Given the description of an element on the screen output the (x, y) to click on. 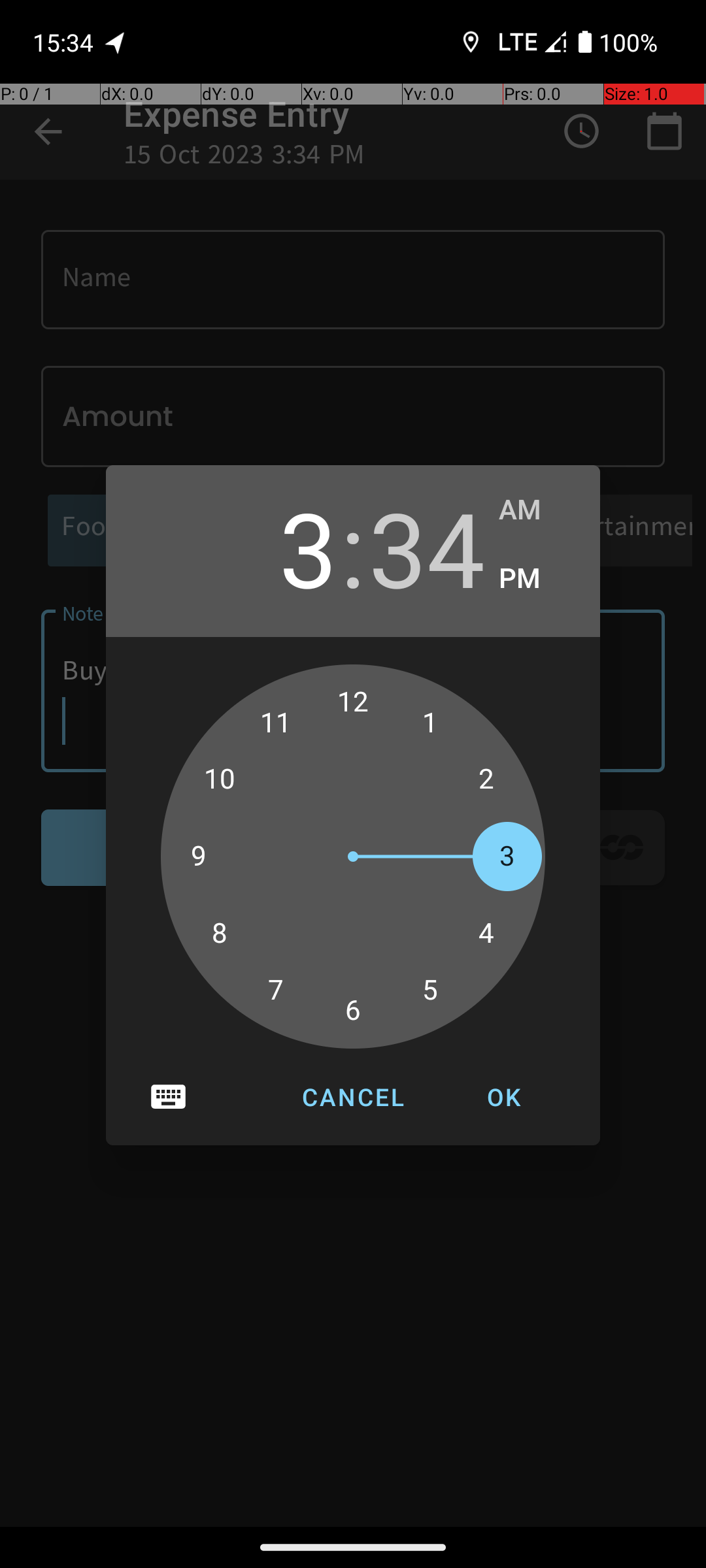
34 Element type: android.widget.TextView (426, 547)
